Given the description of an element on the screen output the (x, y) to click on. 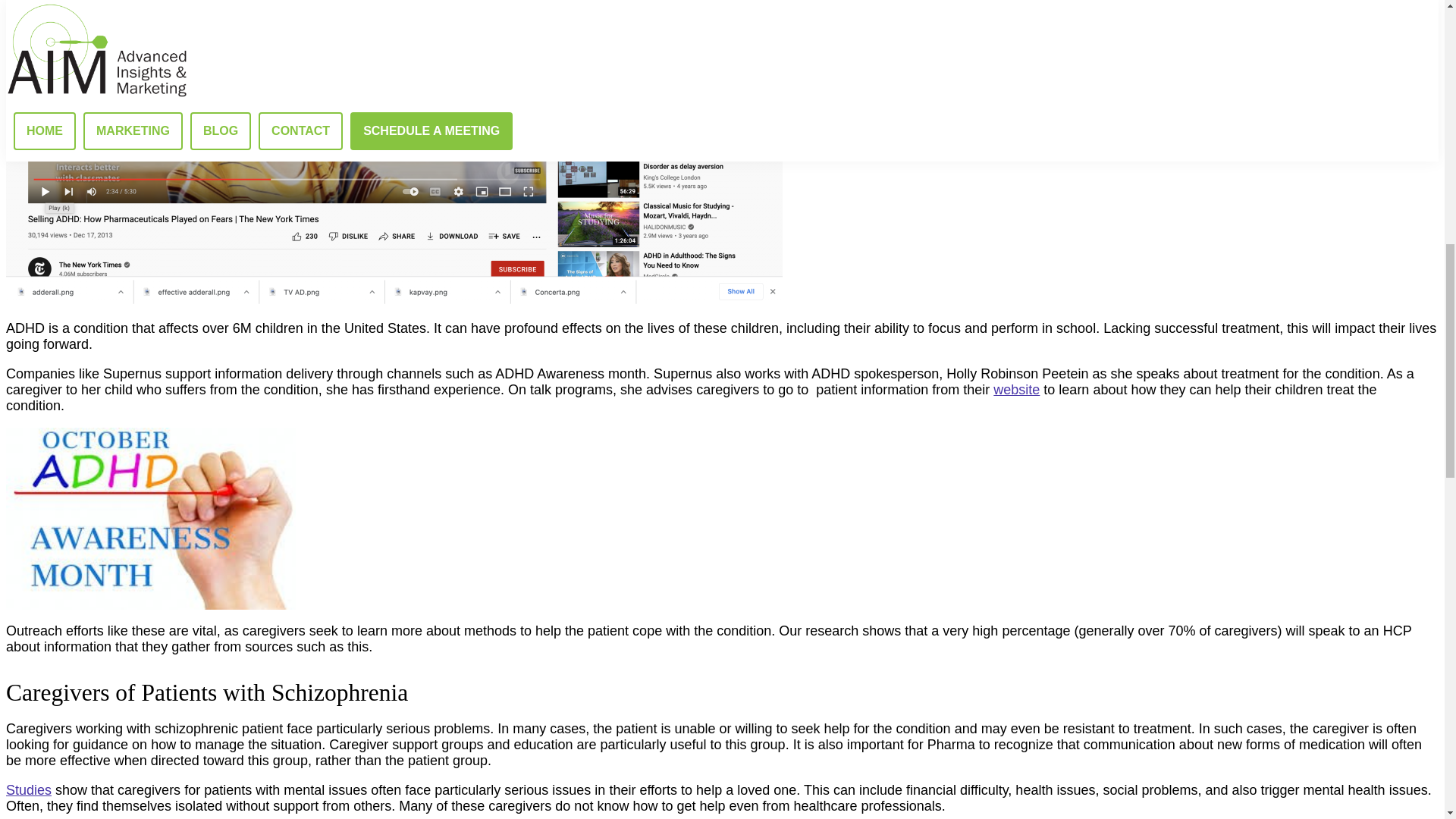
website (1015, 389)
Studies (27, 789)
